Given the description of an element on the screen output the (x, y) to click on. 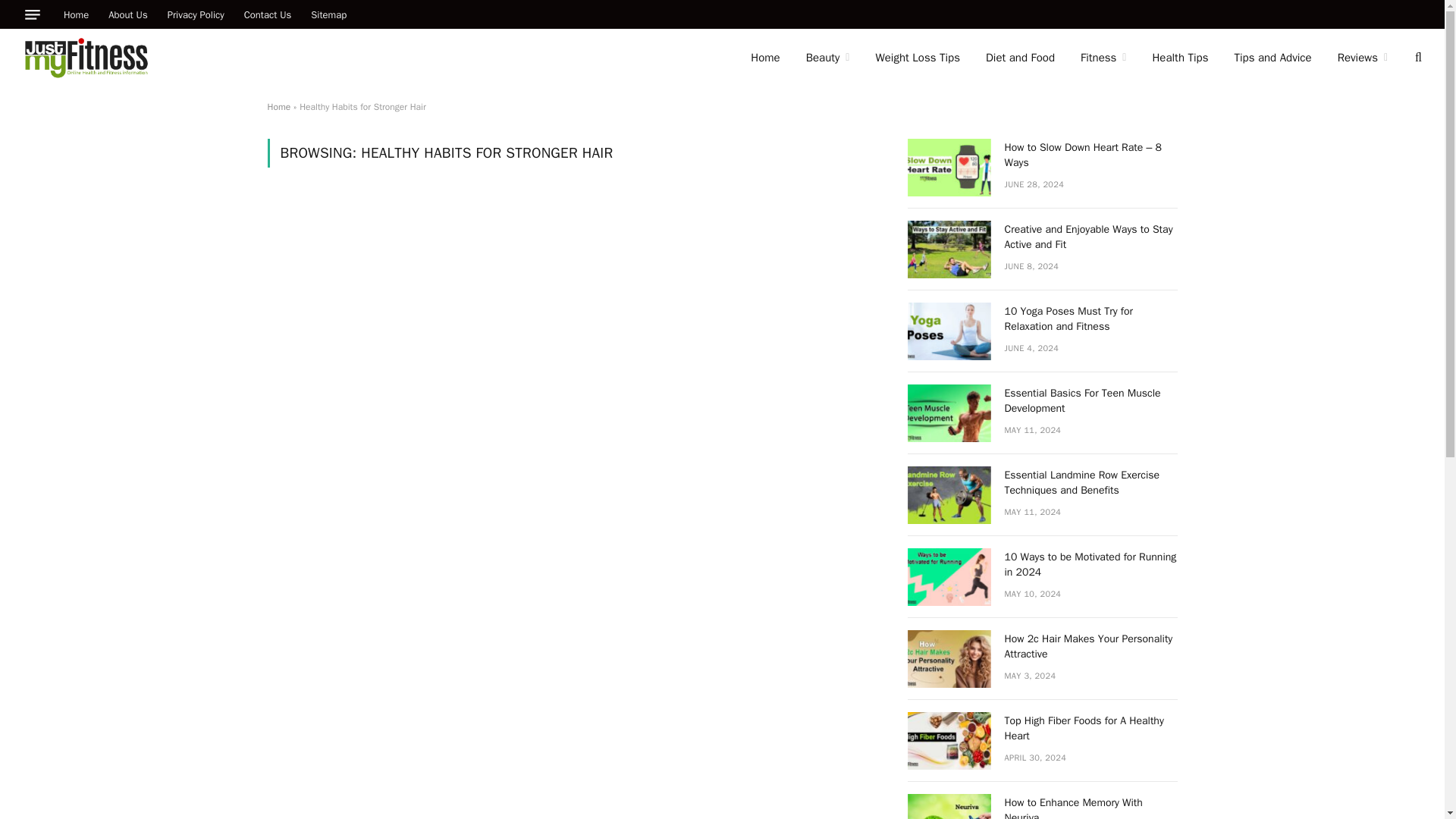
Reviews (1362, 57)
Privacy Policy (195, 14)
How to Enhance Memory With Neuriva (948, 806)
Essential Basics For Teen Muscle Development (948, 413)
Tips and Advice (1272, 57)
Home (76, 14)
Essential Landmine Row Exercise Techniques and Benefits (948, 495)
Top High Fiber Foods for A Healthy Heart (948, 740)
10 Yoga Poses Must Try for Relaxation and Fitness (948, 331)
Home (277, 106)
Diet and Food (1019, 57)
About Us (128, 14)
Beauty (828, 57)
Home (765, 57)
Contact Us (267, 14)
